Given the description of an element on the screen output the (x, y) to click on. 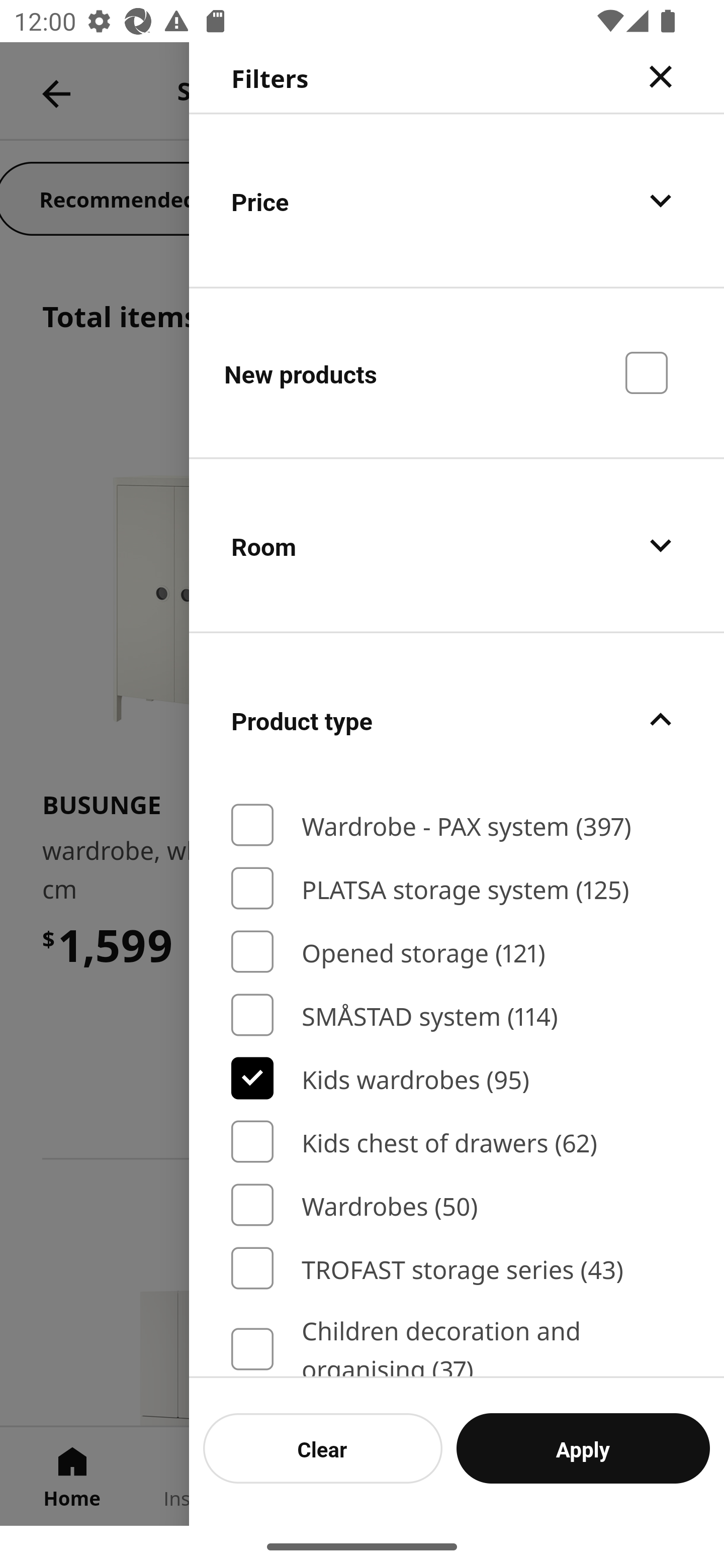
Price (456, 200)
New products (456, 371)
Room (456, 545)
Product type (456, 719)
Wardrobe - PAX system (397) (456, 825)
PLATSA storage system (125) (456, 888)
Opened storage (121) (456, 952)
SMÅSTAD system (114) (456, 1015)
Kids wardrobes (95) (456, 1077)
Kids chest of drawers (62) (456, 1142)
Wardrobes (50) (456, 1204)
TROFAST storage series (43) (456, 1268)
Children decoration and organising (37) (456, 1343)
Clear (322, 1447)
Apply (583, 1447)
